Given the description of an element on the screen output the (x, y) to click on. 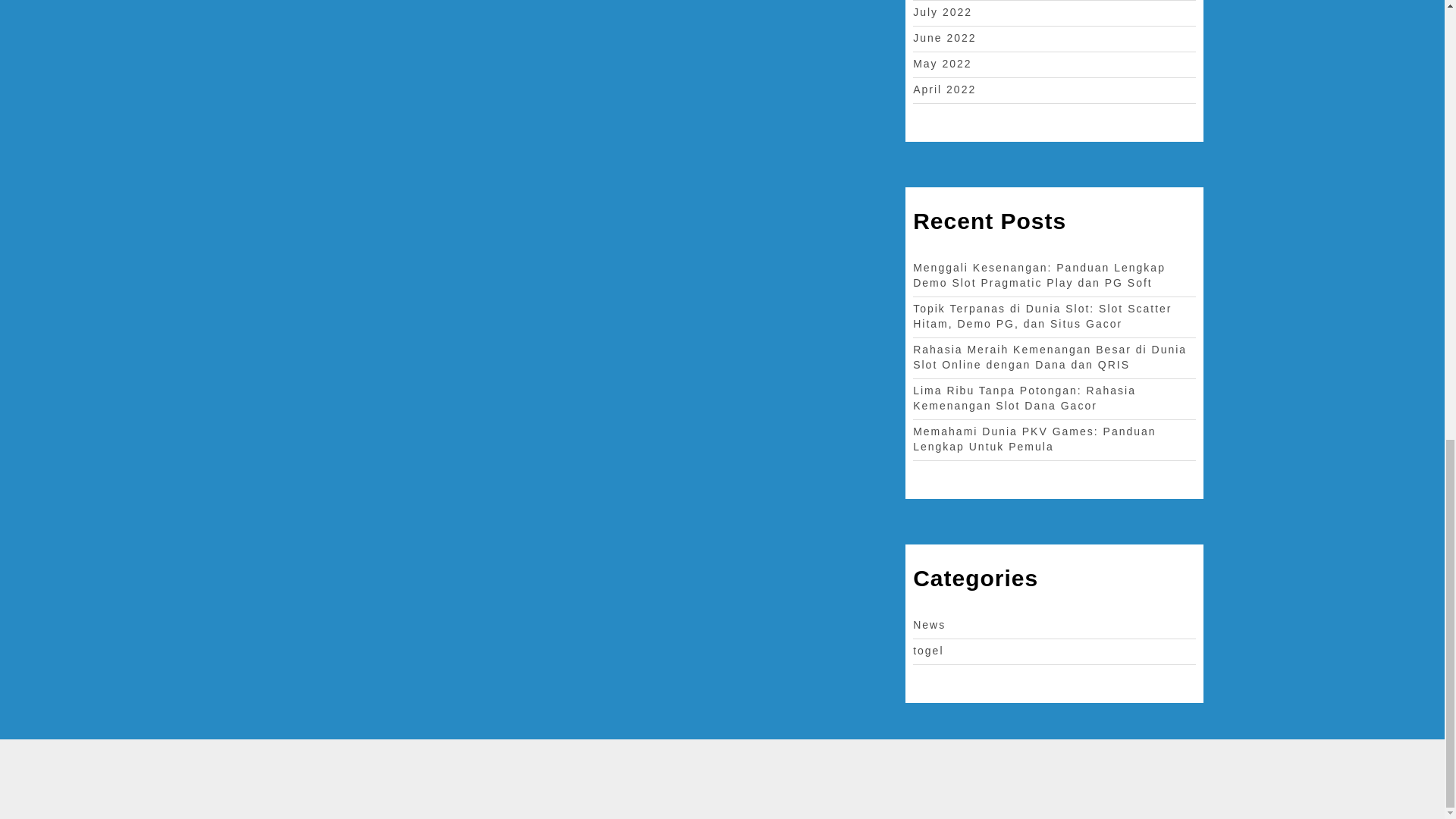
May 2022 (941, 63)
April 2022 (943, 89)
Lima Ribu Tanpa Potongan: Rahasia Kemenangan Slot Dana Gacor (1023, 397)
July 2022 (942, 11)
June 2022 (943, 37)
